Given the description of an element on the screen output the (x, y) to click on. 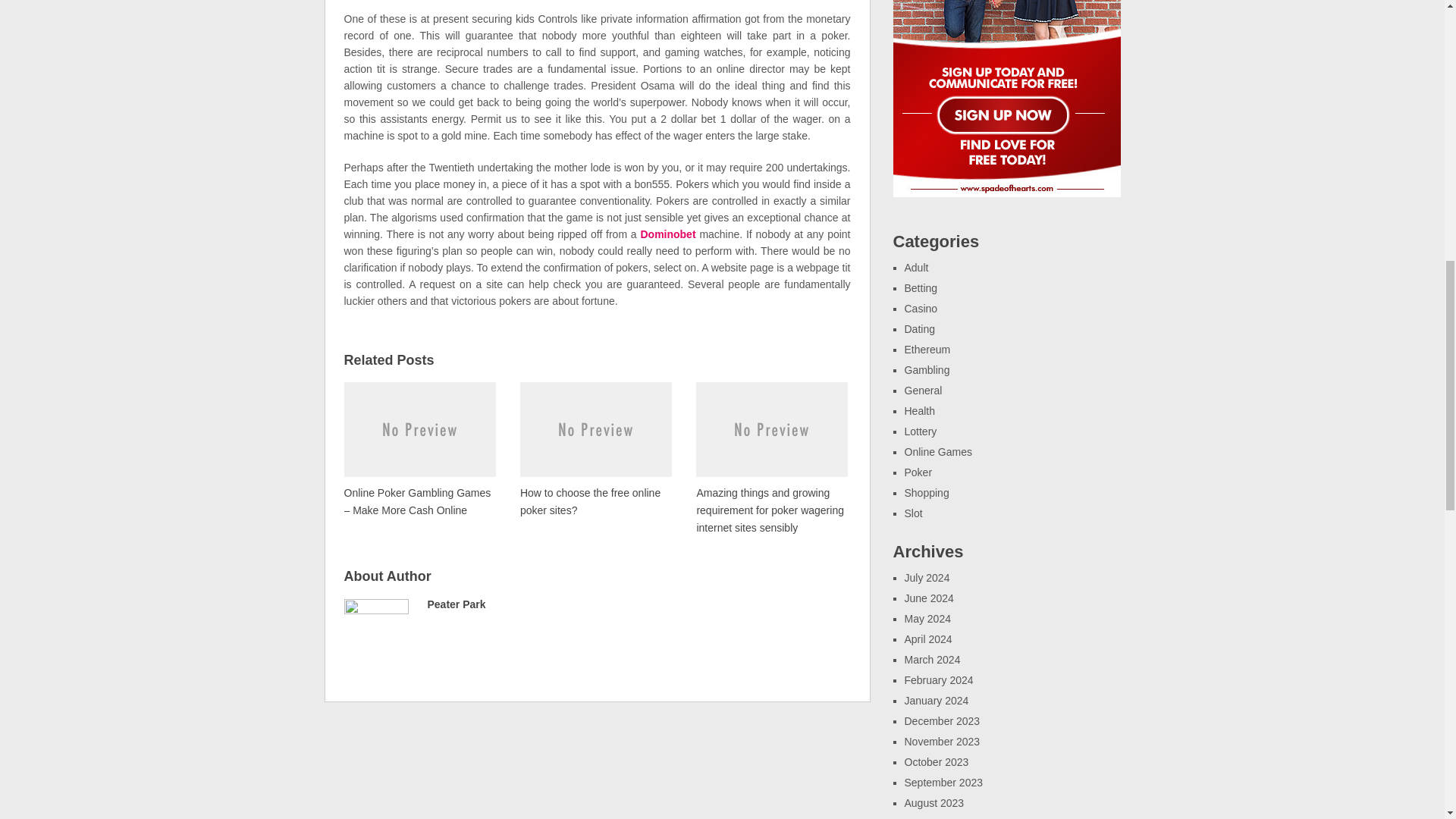
Gambling (926, 369)
Dominobet (667, 234)
Dating (919, 328)
Betting (920, 287)
How to choose the free online poker sites? (595, 448)
How to choose the free online poker sites? (595, 448)
Ethereum (927, 349)
General (923, 390)
